Given the description of an element on the screen output the (x, y) to click on. 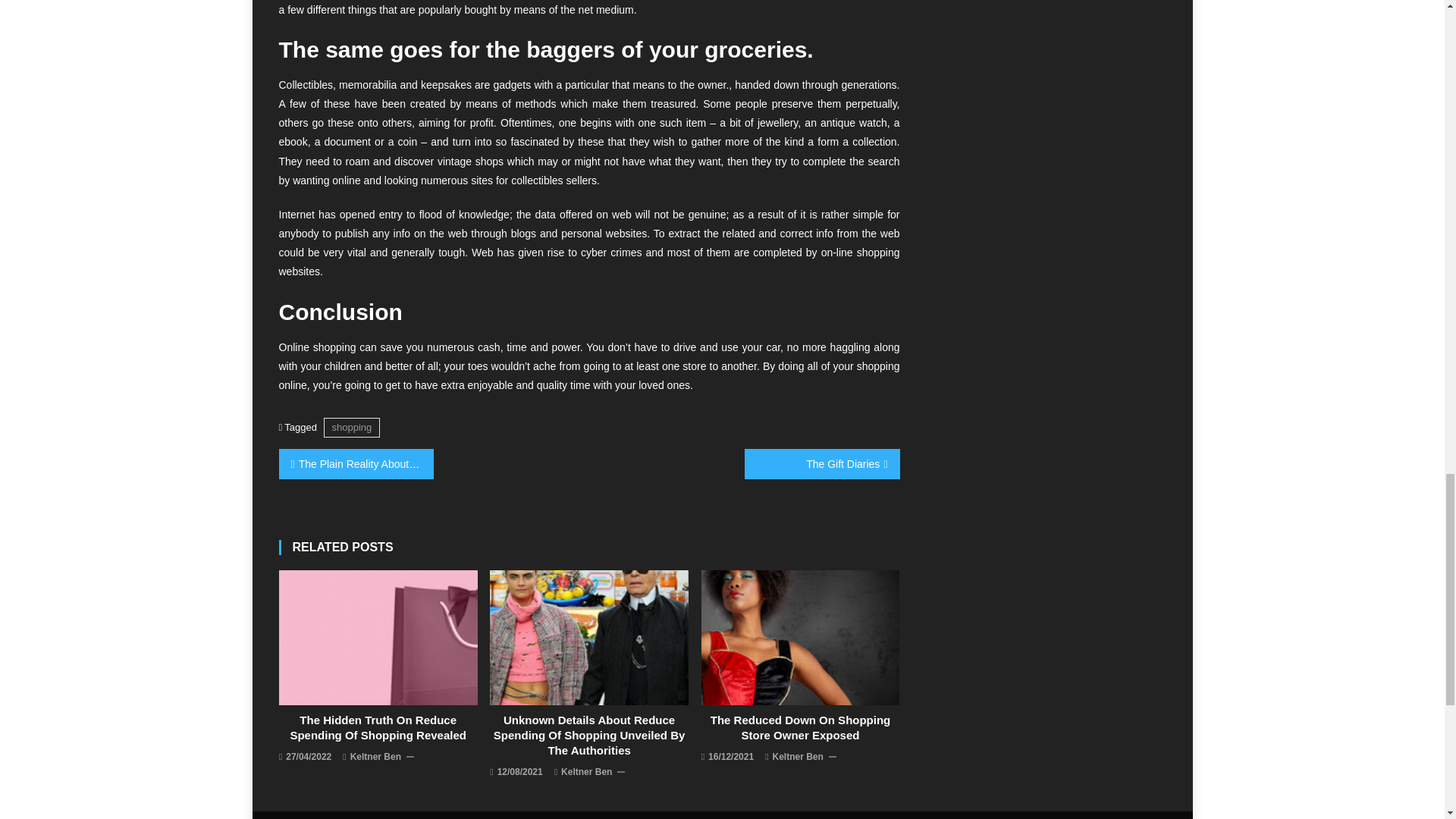
Keltner Ben (375, 757)
Keltner Ben (585, 772)
The Reduced Down on Shopping Store Owner Exposed 5 (800, 637)
The Hidden Truth on Reduce Spending Of Shopping Revealed 3 (378, 637)
Keltner Ben (798, 757)
The Reduced Down On Shopping Store Owner Exposed (800, 727)
The Hidden Truth On Reduce Spending Of Shopping Revealed (378, 727)
shopping (351, 426)
The Gift Diaries (821, 463)
